Given the description of an element on the screen output the (x, y) to click on. 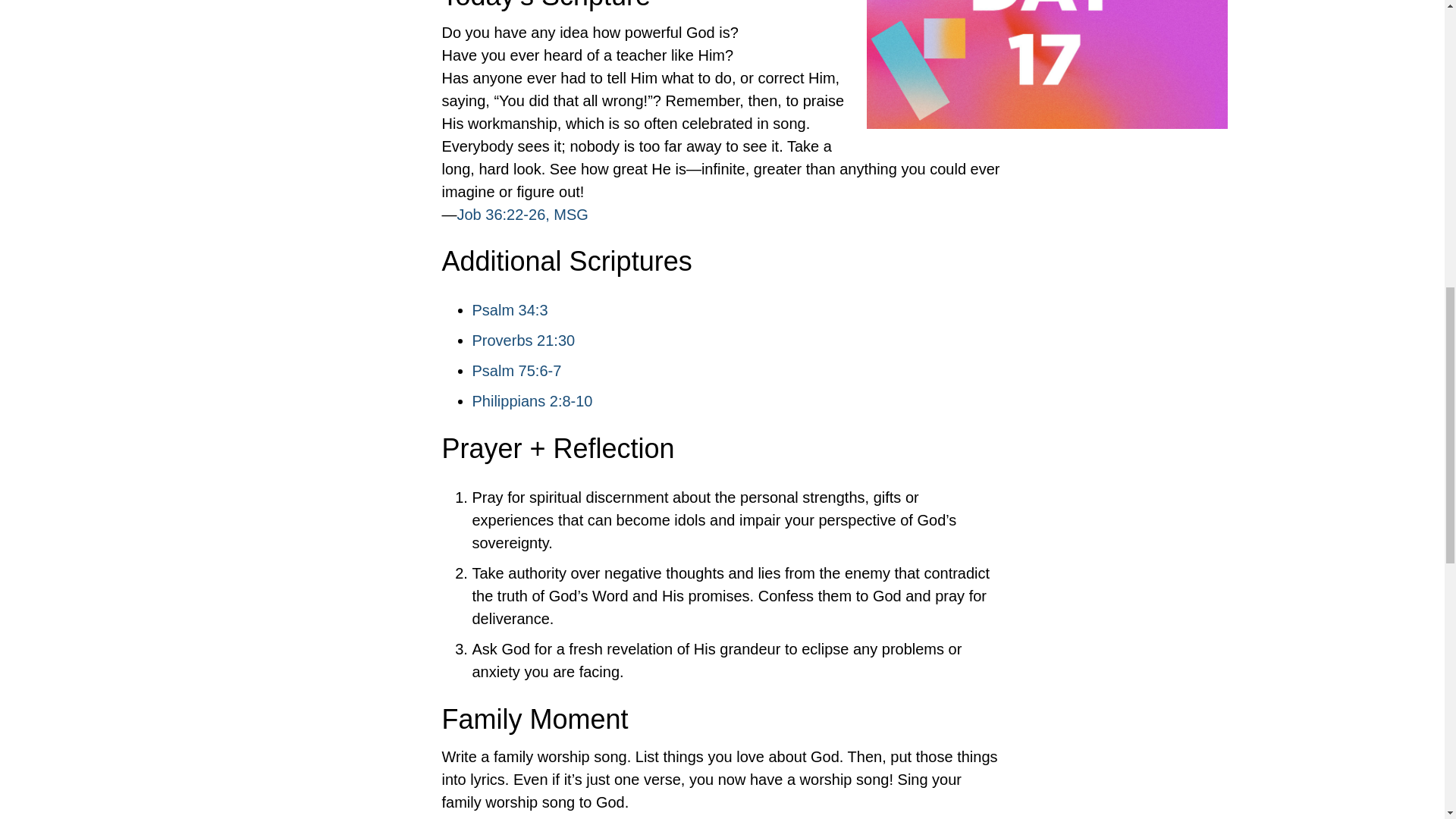
Job 36:22-26, MSG (522, 214)
Psalm 34:3 (509, 310)
Philippians 2:8-10 (531, 401)
Psalm 75:6-7 (515, 370)
Proverbs 21:30 (523, 340)
